Given the description of an element on the screen output the (x, y) to click on. 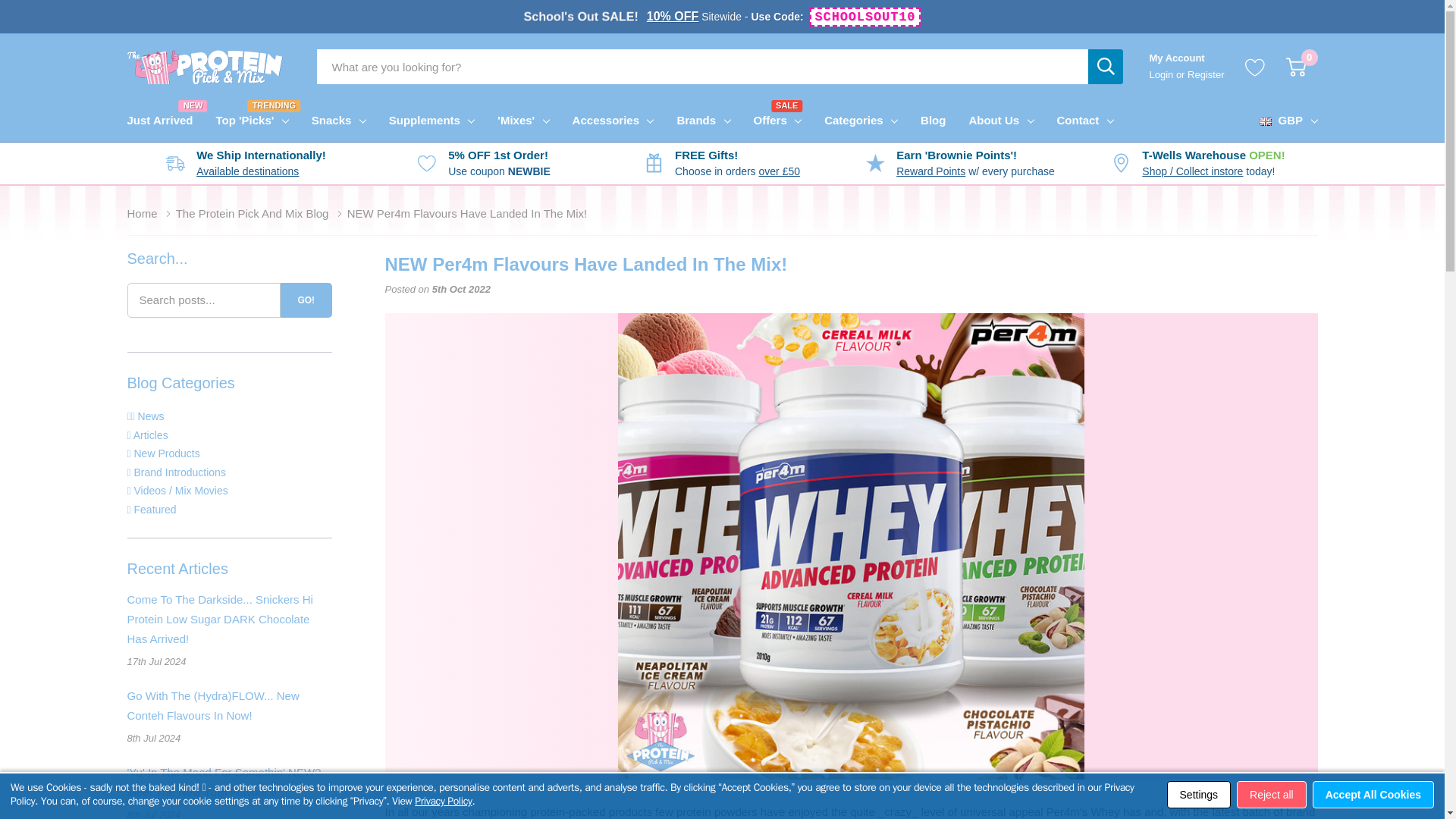
Wishlists (1254, 66)
0 (166, 120)
Login (1295, 66)
Register (244, 120)
Snacks (1161, 74)
The Protein Pick and Mix (1206, 74)
